Given the description of an element on the screen output the (x, y) to click on. 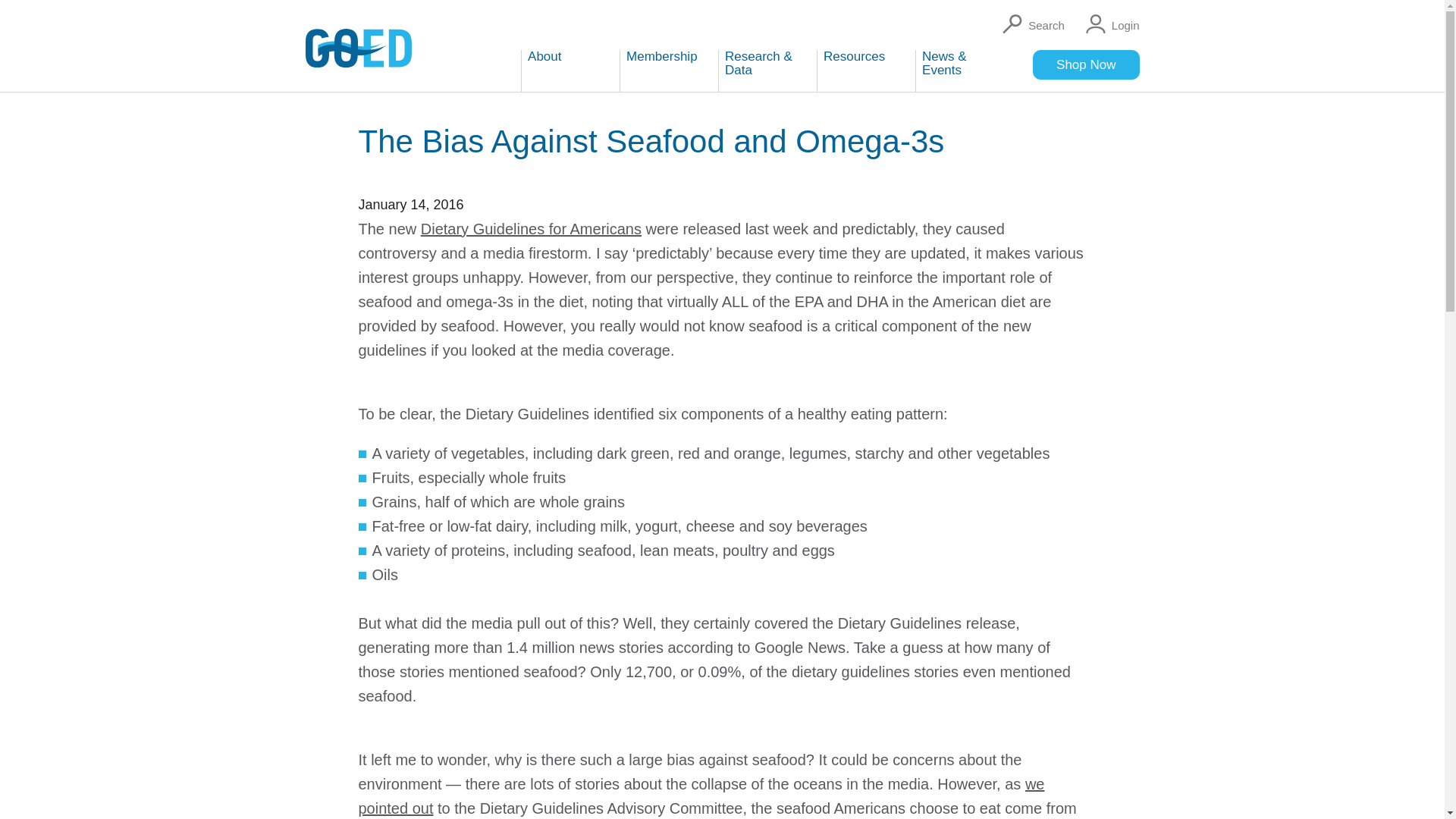
we pointed out (700, 795)
Login (1110, 24)
Search (1029, 24)
Search (1029, 24)
Dietary Guidelines for Americans (531, 228)
Shop Now (1085, 64)
Account (1110, 24)
